Given the description of an element on the screen output the (x, y) to click on. 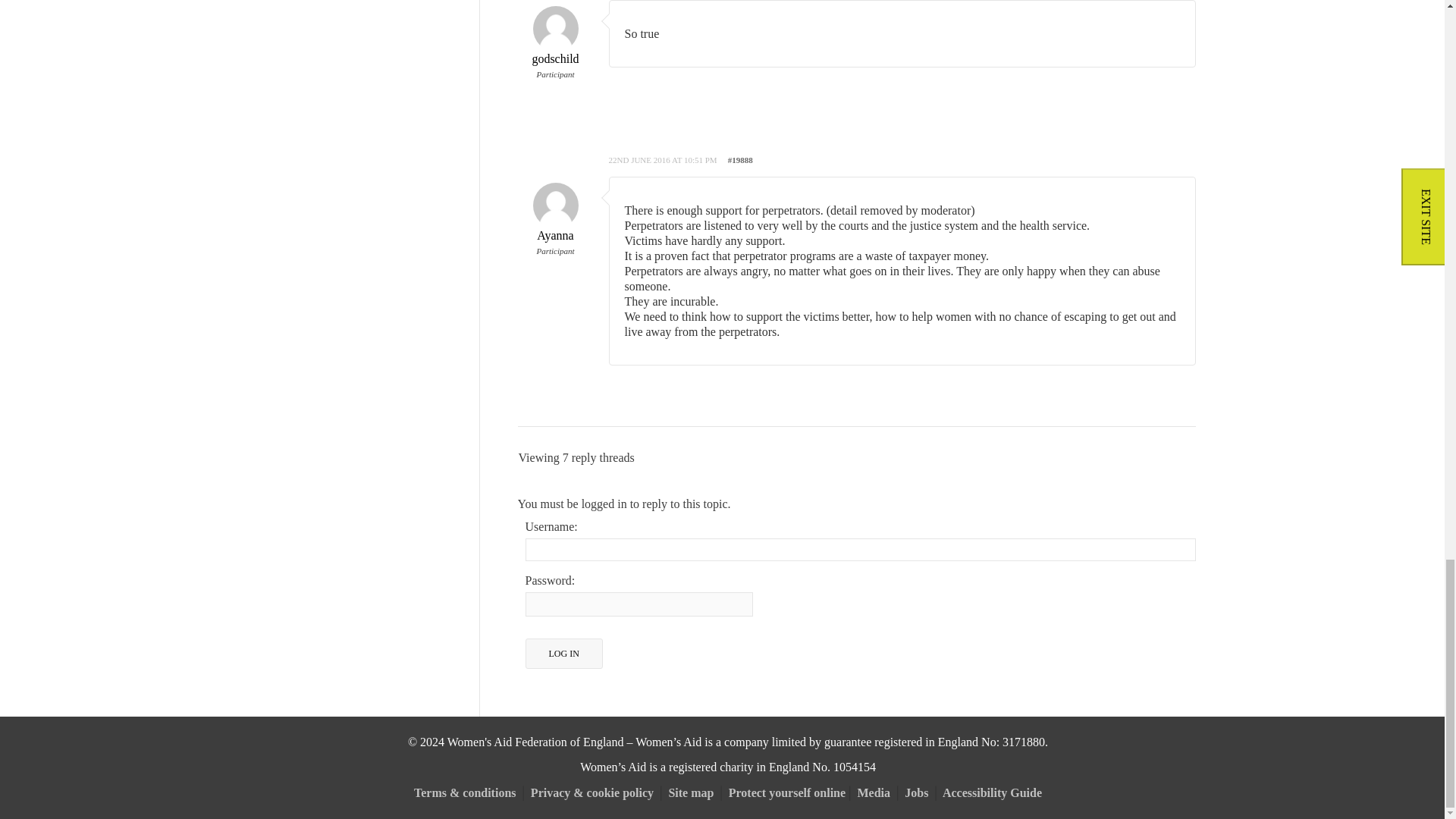
godschild (554, 43)
Ayanna (554, 220)
